Given the description of an element on the screen output the (x, y) to click on. 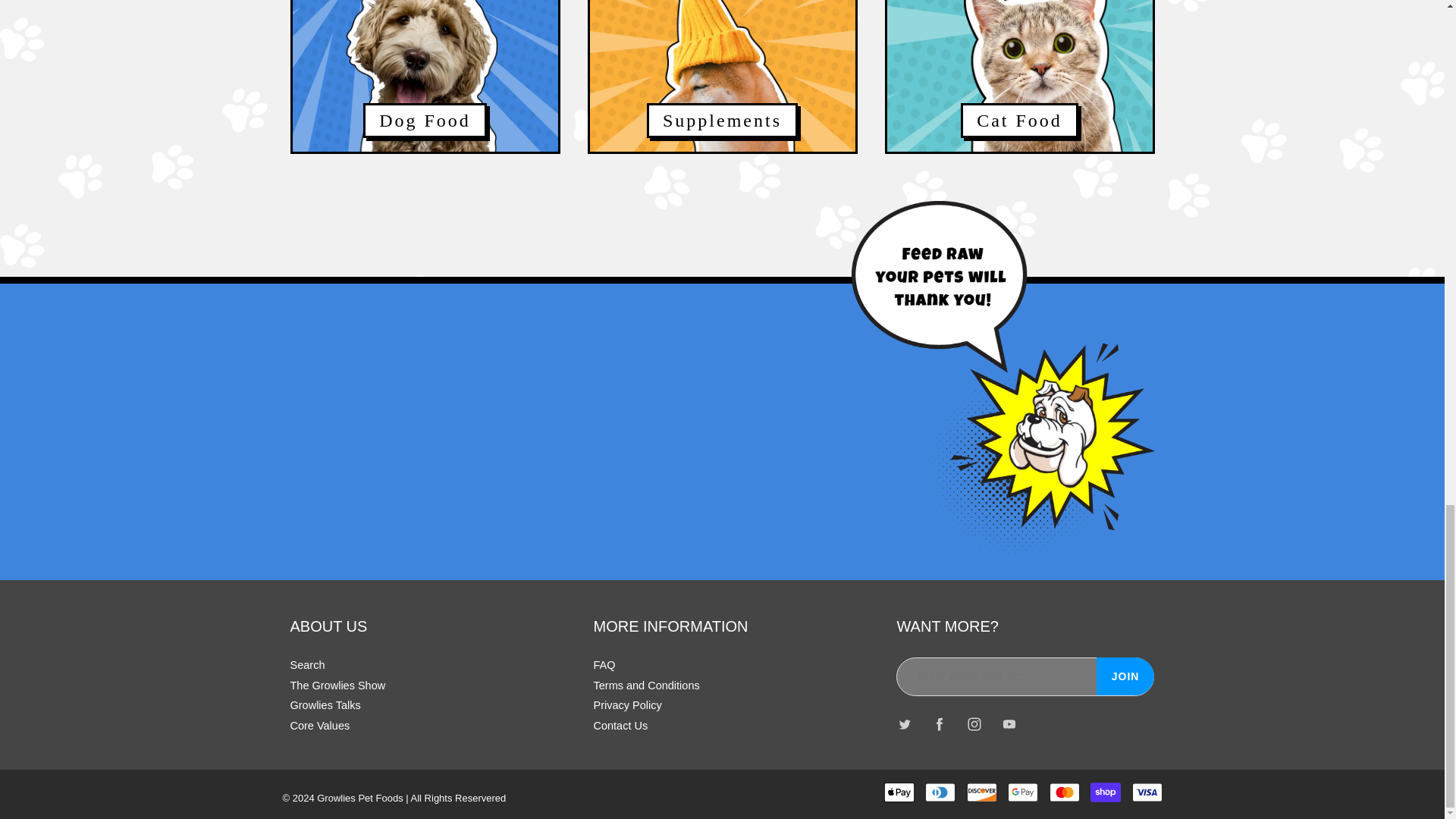
Discover (981, 792)
Dogs (424, 75)
Facebook (939, 724)
Apple Pay (898, 792)
Visa (1146, 792)
Shop Pay (1105, 792)
Twitter (904, 724)
YouTube (1009, 724)
Instagram (974, 724)
Mastercard (1064, 792)
Diners Club (939, 792)
Google Pay (1022, 792)
Supplements (721, 75)
